Given the description of an element on the screen output the (x, y) to click on. 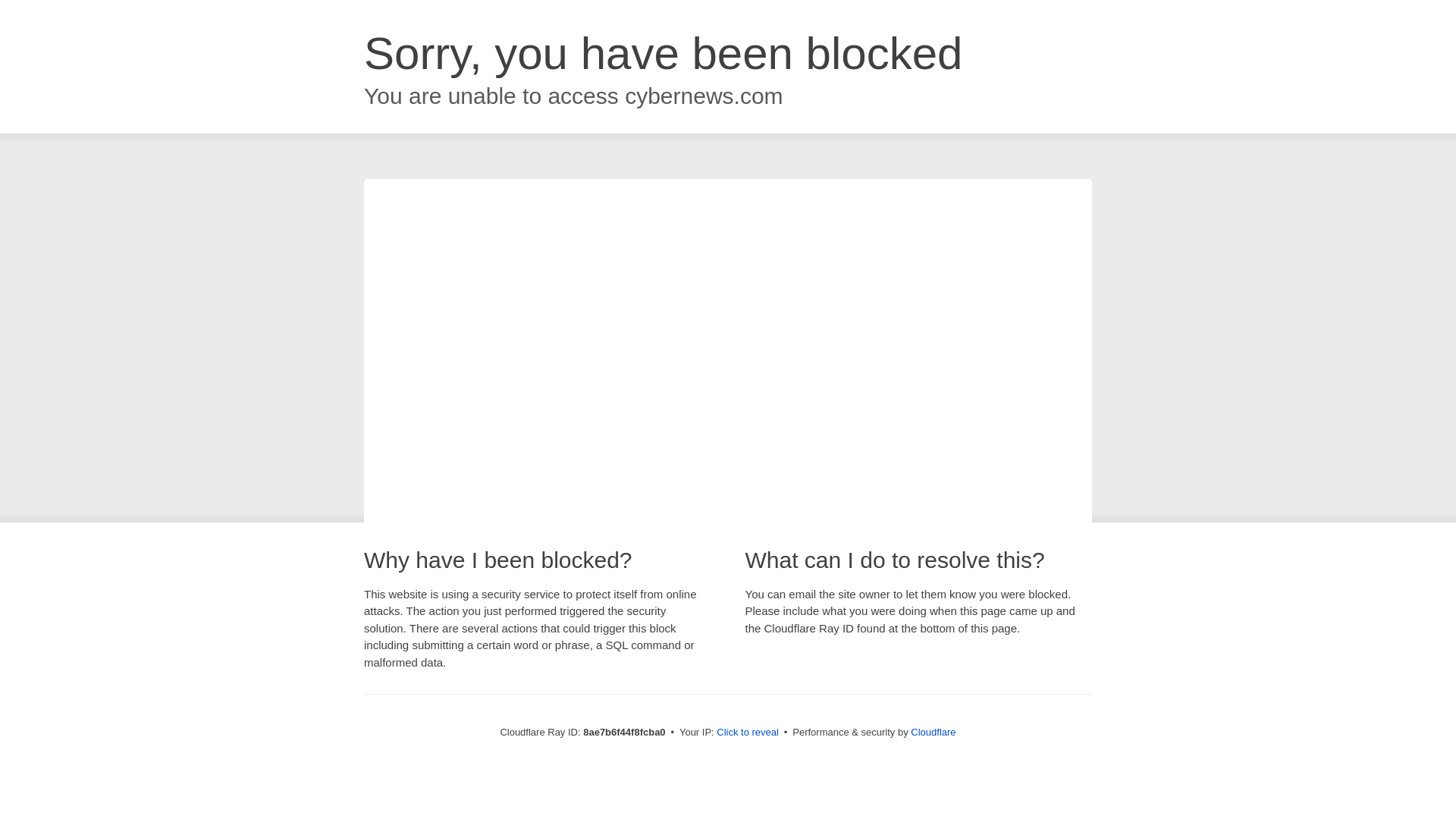
Click to reveal (747, 732)
Cloudflare (933, 731)
